Given the description of an element on the screen output the (x, y) to click on. 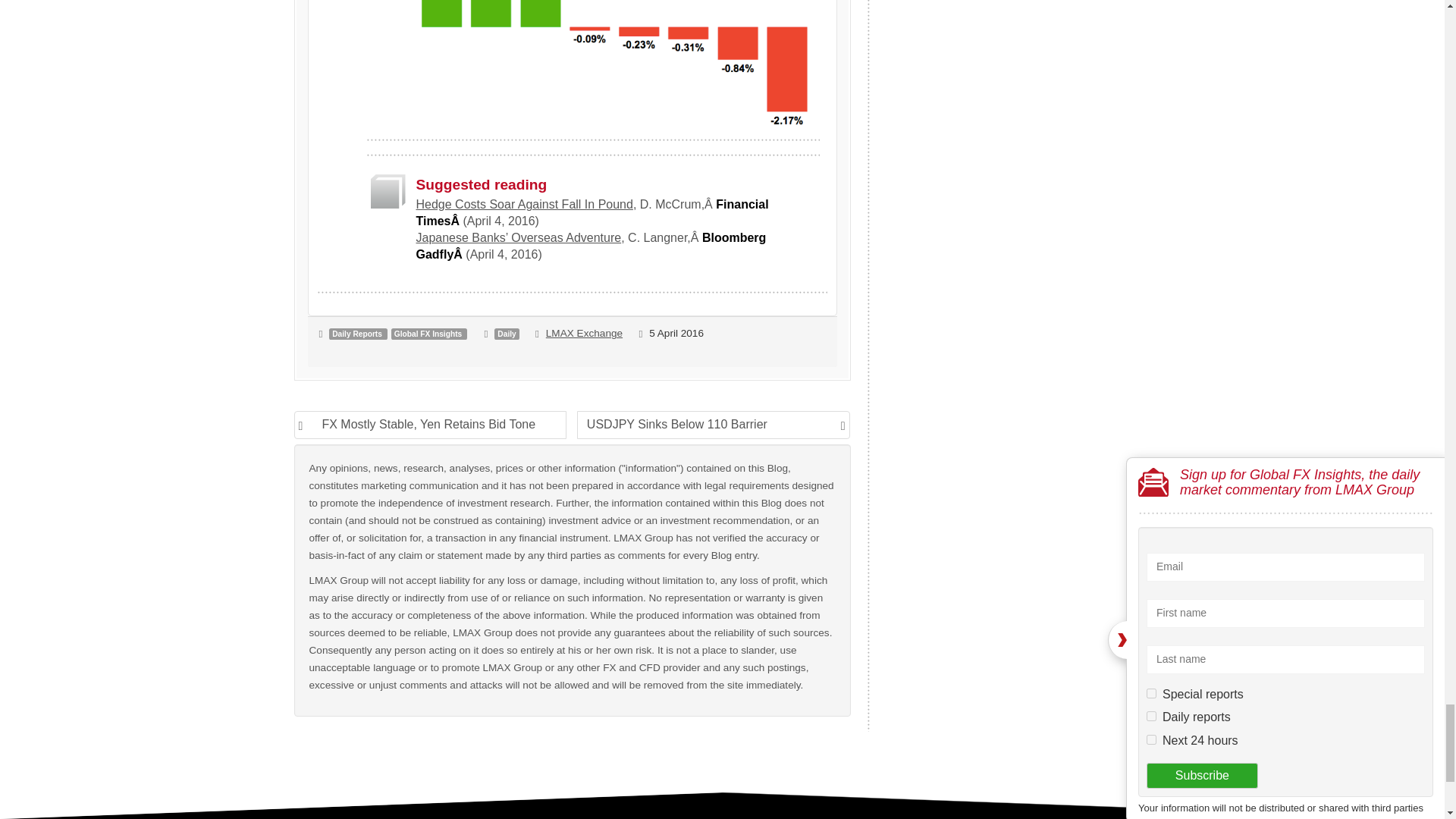
LMAX Exchange (584, 333)
